Given the description of an element on the screen output the (x, y) to click on. 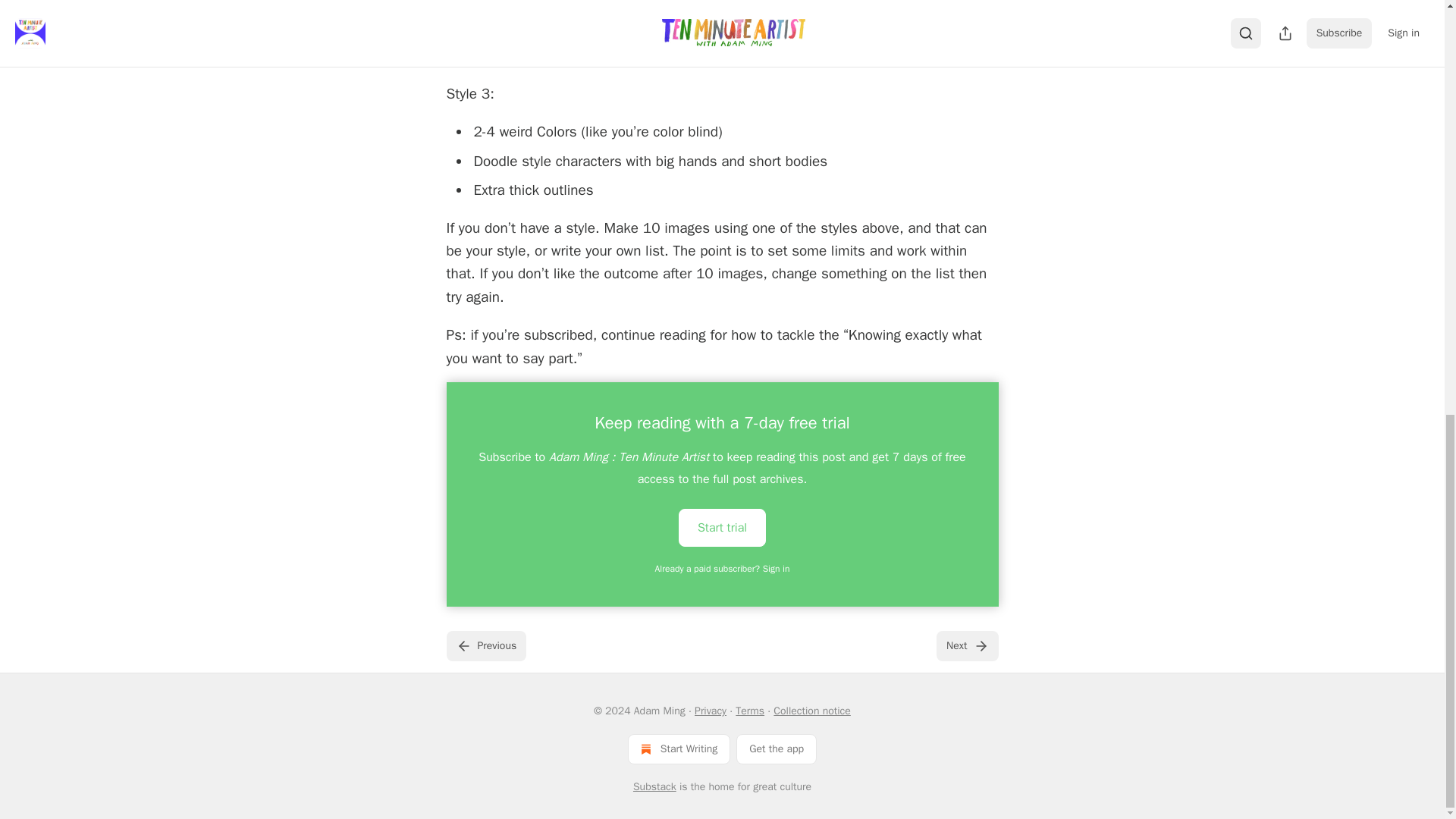
Already a paid subscriber? Sign in (722, 568)
Substack (655, 786)
Previous (485, 645)
Start trial (721, 527)
Get the app (776, 748)
Privacy (710, 710)
Next (966, 645)
Start Writing (678, 748)
Collection notice (811, 710)
Terms (749, 710)
Start trial (721, 526)
